Given the description of an element on the screen output the (x, y) to click on. 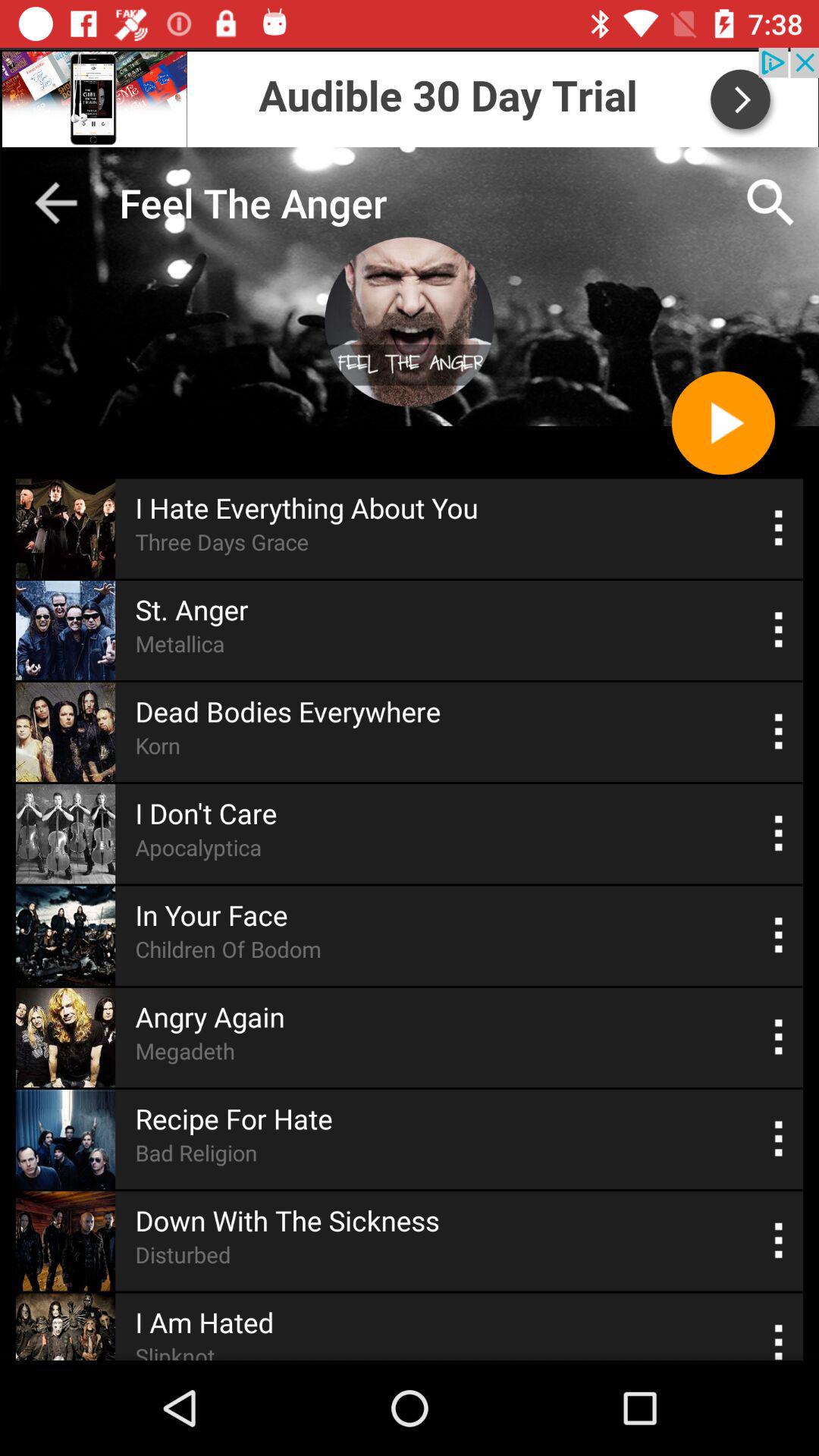
see the options (779, 1037)
